Given the description of an element on the screen output the (x, y) to click on. 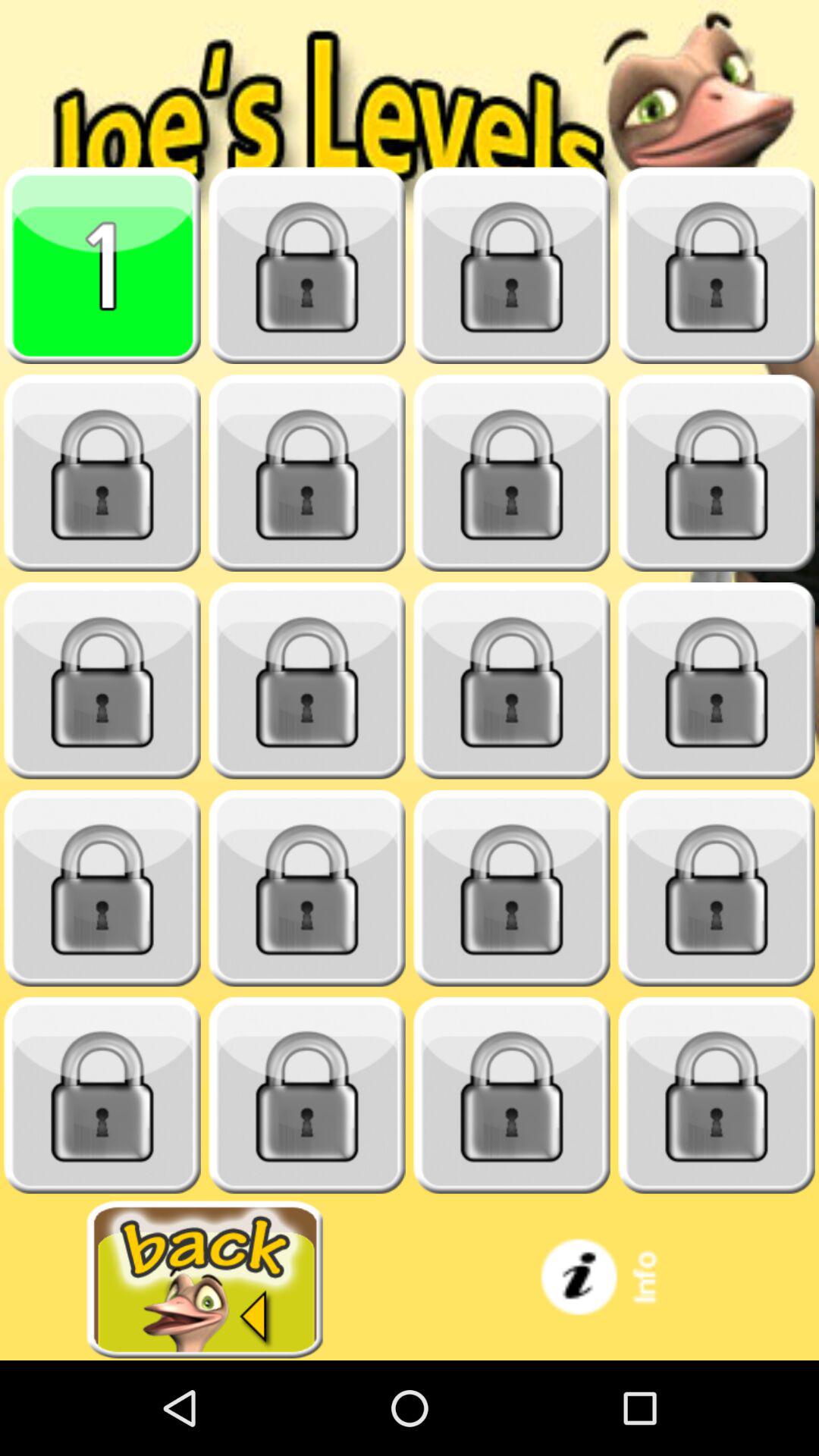
unlock level (511, 1094)
